Given the description of an element on the screen output the (x, y) to click on. 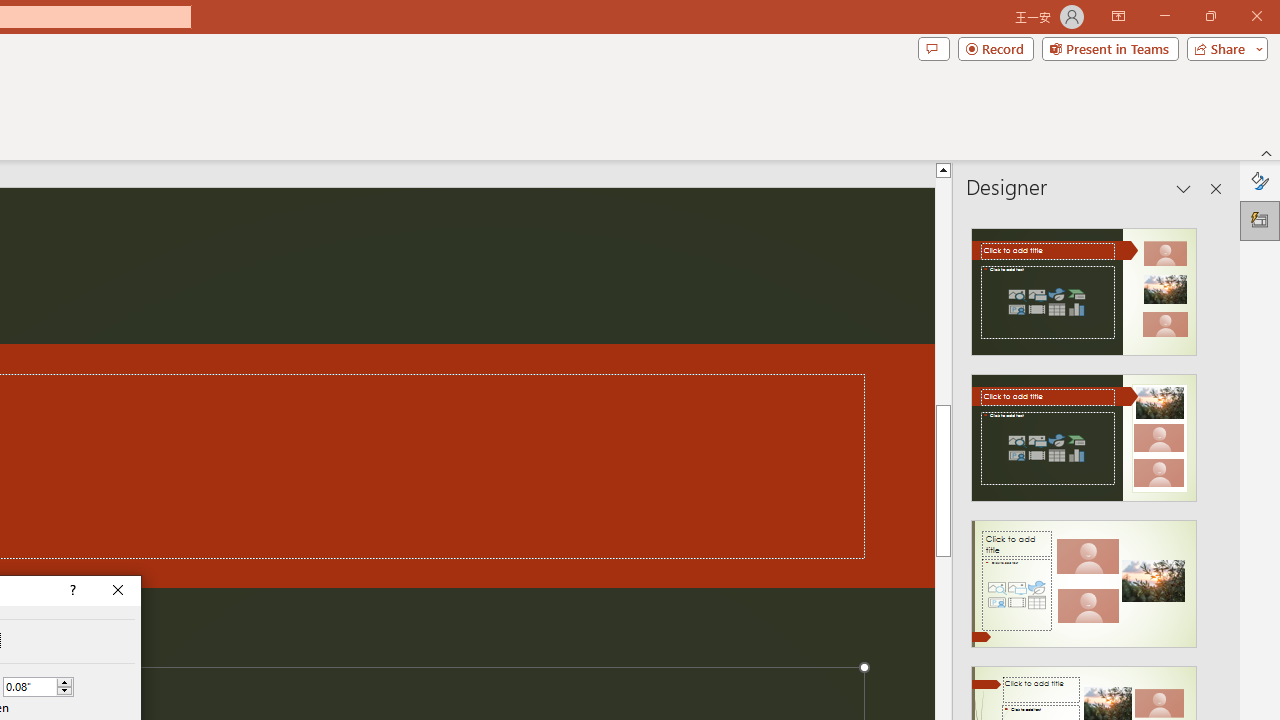
Design Idea (1083, 577)
Custom Spacing (38, 686)
Custom Spacing (29, 687)
Format Background (1260, 180)
